Given the description of an element on the screen output the (x, y) to click on. 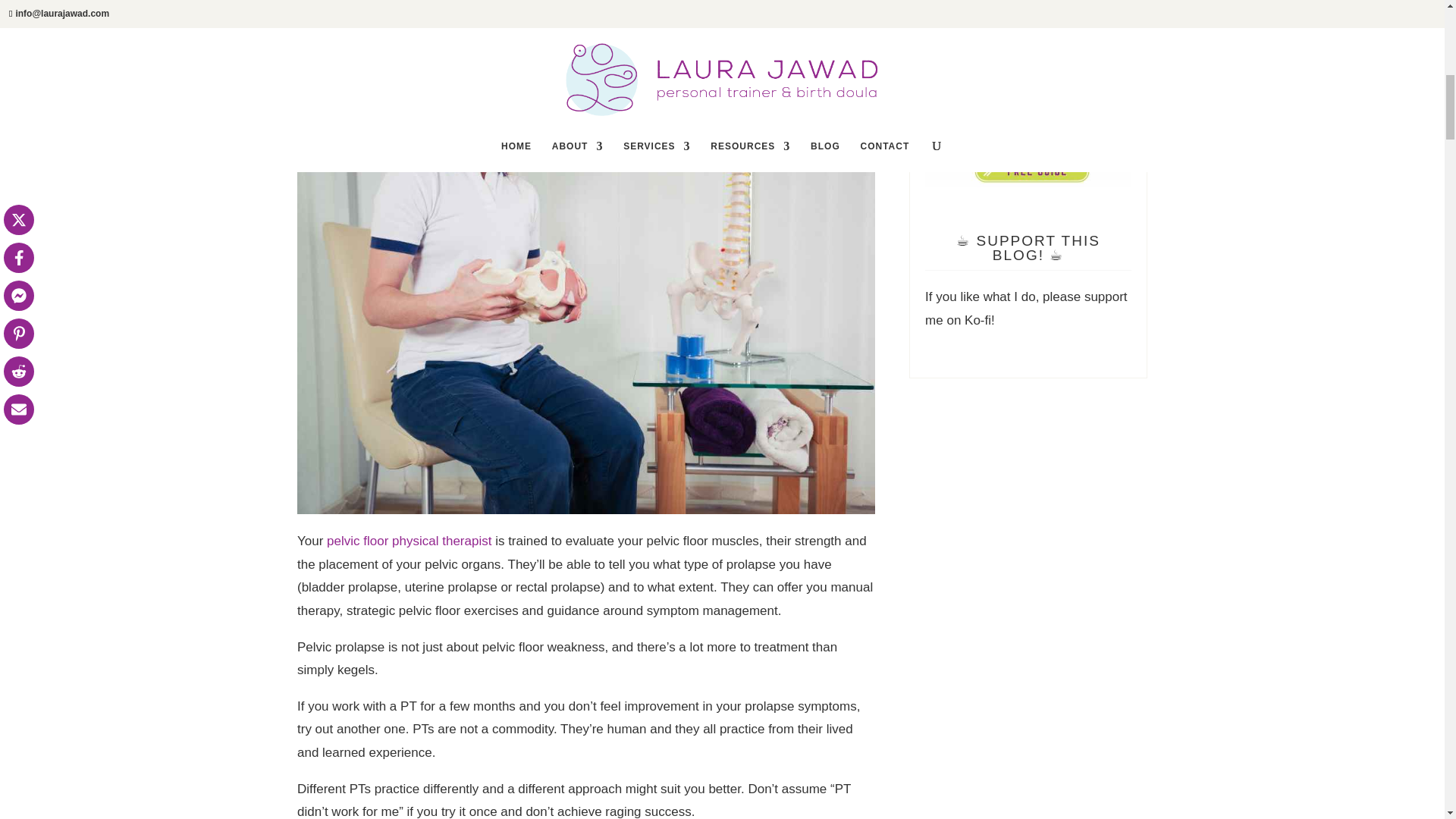
pelvic floor physical therapist (409, 540)
